Given the description of an element on the screen output the (x, y) to click on. 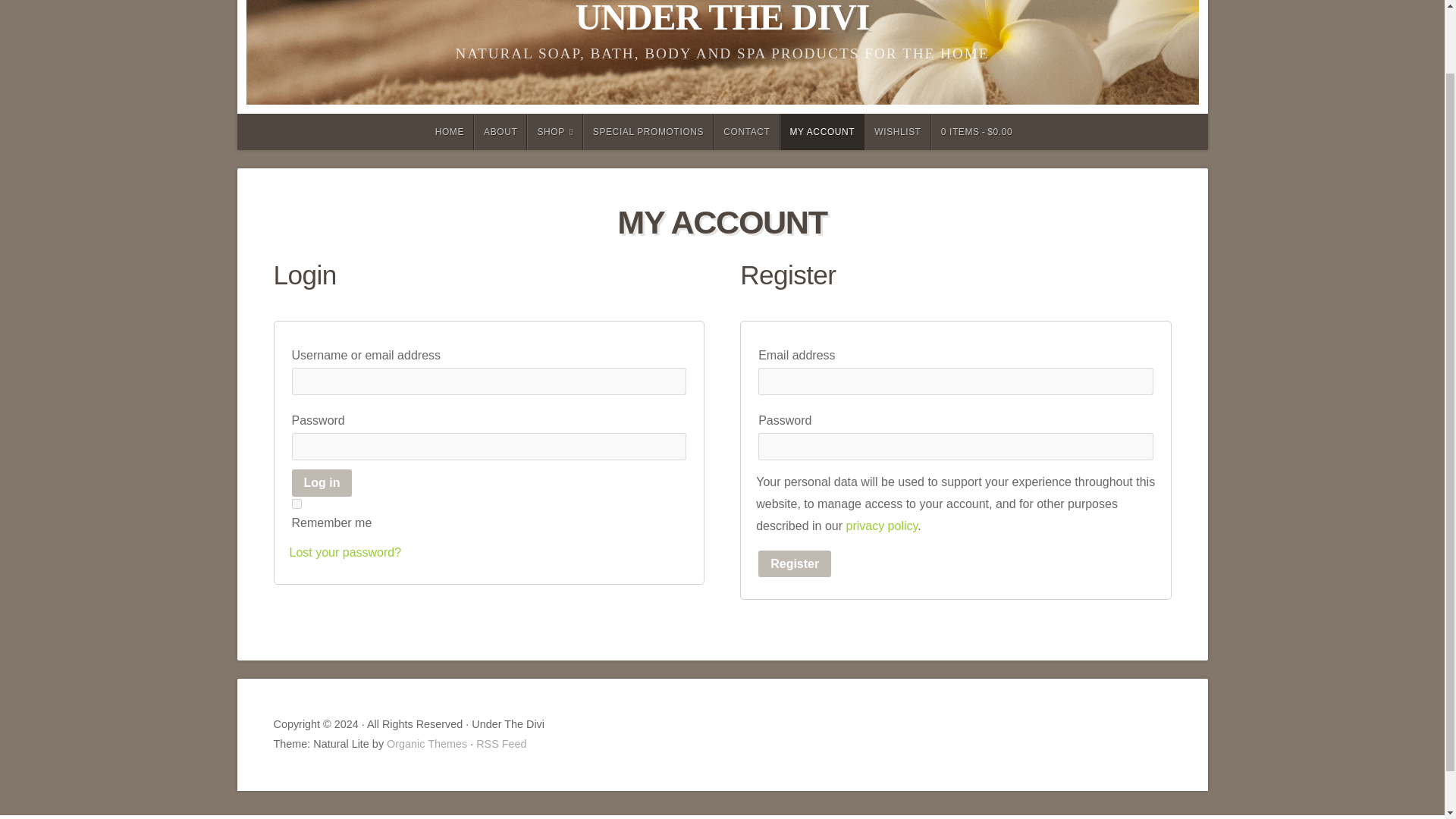
SHOP (554, 131)
CONTACT (745, 131)
Organic Themes (427, 743)
forever (296, 503)
ABOUT (500, 131)
Register (794, 564)
UNDER THE DIVI (722, 18)
Lost your password? (345, 552)
MY ACCOUNT (822, 131)
Start shopping (976, 131)
SPECIAL PROMOTIONS (648, 131)
WISHLIST (897, 131)
privacy policy (881, 525)
RSS Feed (500, 743)
HOME (448, 131)
